Given the description of an element on the screen output the (x, y) to click on. 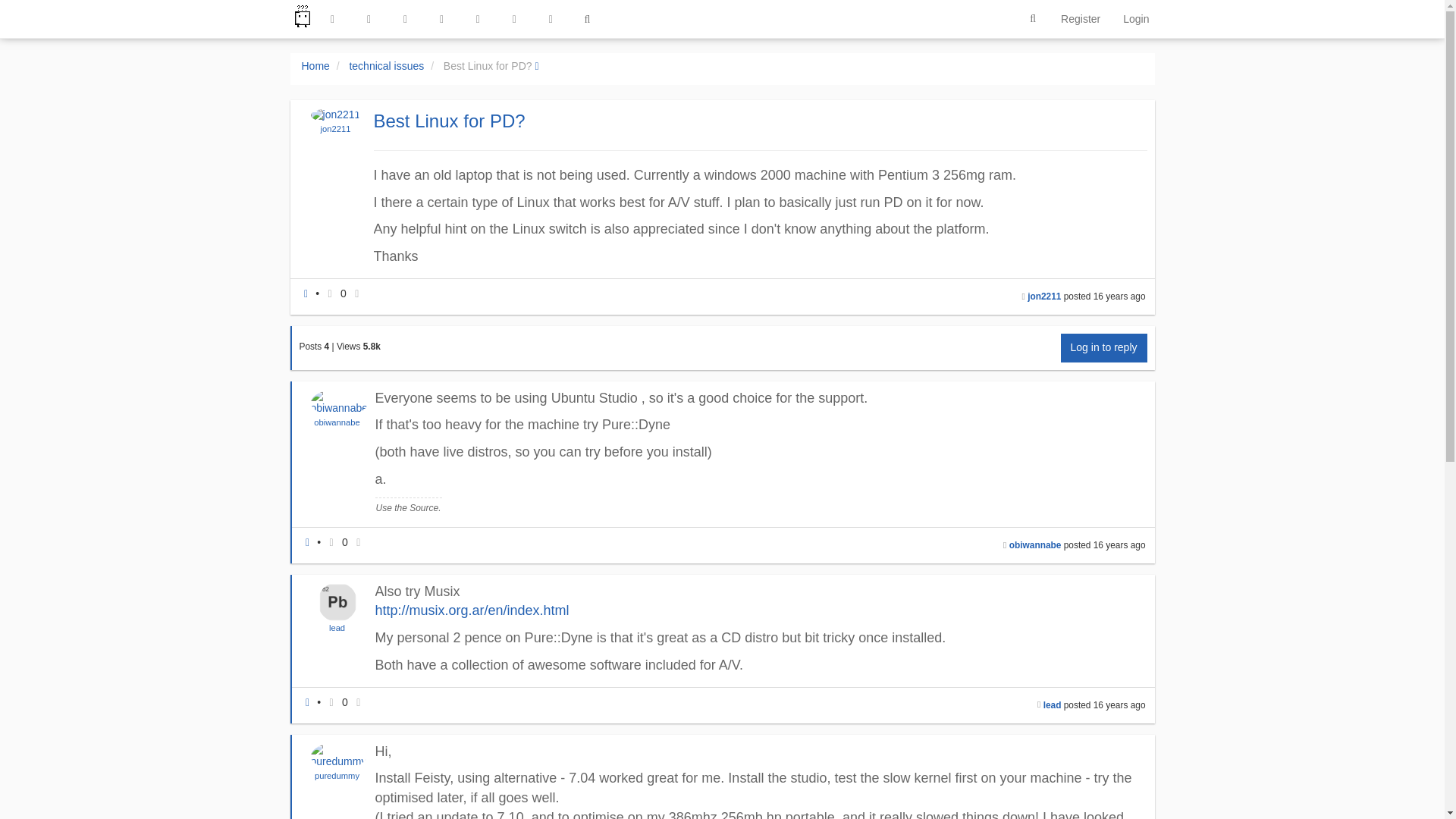
obiwannabe (336, 421)
Home (315, 65)
Log in to reply (1104, 347)
Search (1032, 18)
Login (1136, 18)
obiwannabe (1035, 544)
technical issues (386, 65)
Register (1080, 18)
jon2211 (335, 128)
jon2211 (1044, 296)
